Given the description of an element on the screen output the (x, y) to click on. 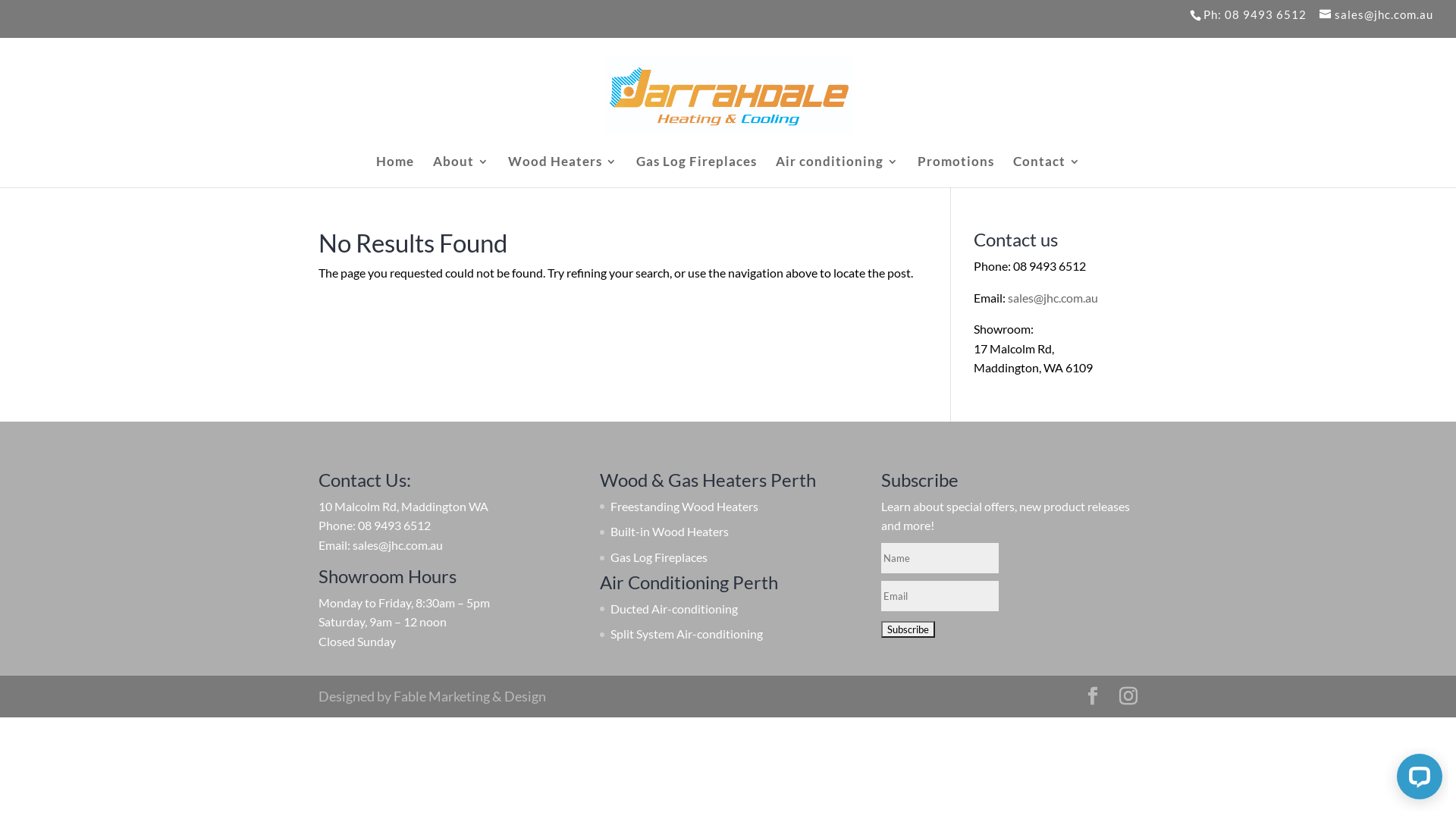
About Element type: text (460, 171)
Wood Heaters Element type: text (562, 171)
Air conditioning Element type: text (836, 171)
Contact Element type: text (1046, 171)
Split System Air-conditioning Element type: text (686, 633)
sales@jhc.com.au Element type: text (397, 544)
Subscribe Element type: text (908, 629)
Promotions Element type: text (955, 171)
Freestanding Wood Heaters Element type: text (684, 505)
Home Element type: text (395, 171)
Ducted Air-conditioning Element type: text (673, 608)
Built-in Wood Heaters Element type: text (669, 531)
LiveChat chat widget Element type: hover (1416, 779)
Gas Log Fireplaces Element type: text (695, 171)
Gas Log Fireplaces Element type: text (658, 556)
sales@jhc.com.au Element type: text (1376, 14)
sales@jhc.com.au Element type: text (1052, 297)
